Given the description of an element on the screen output the (x, y) to click on. 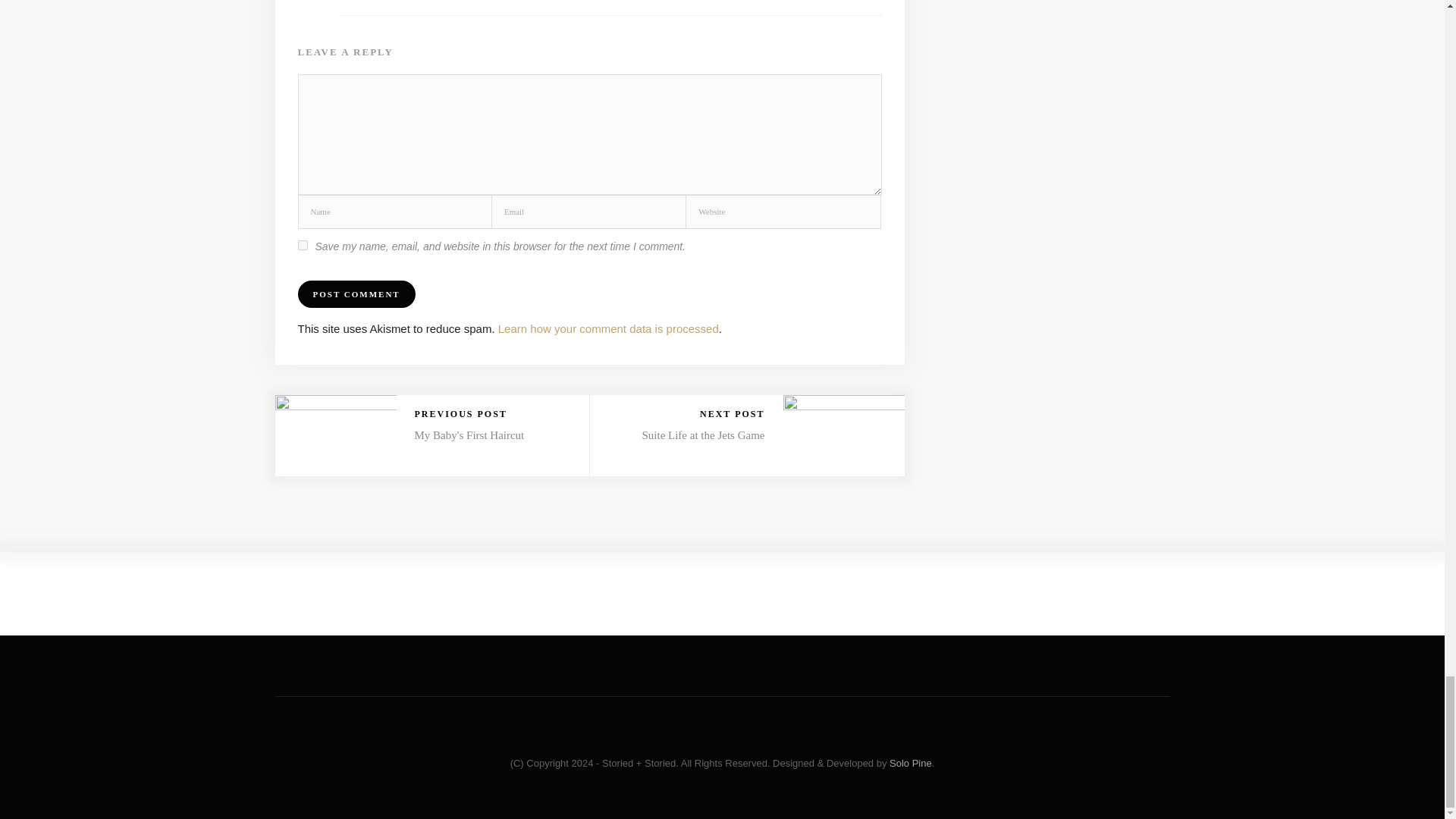
Post Comment (355, 293)
yes (302, 245)
